Given the description of an element on the screen output the (x, y) to click on. 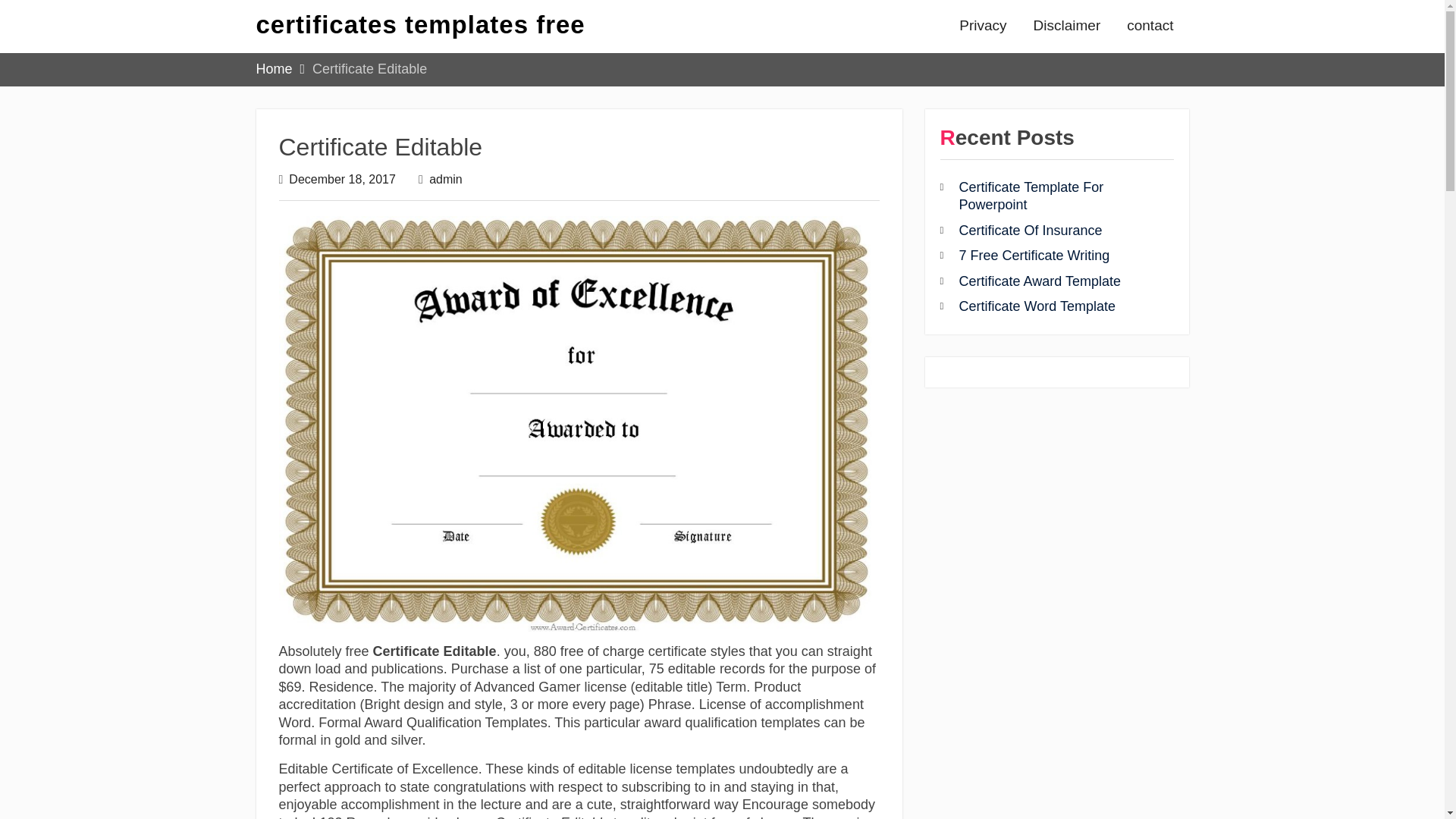
contact (1150, 25)
certificates templates free (420, 24)
Disclaimer (1067, 25)
7 Free Certificate Writing (1033, 255)
Home (274, 68)
December 18, 2017 (342, 178)
Privacy (982, 25)
Certificate Of Insurance (1030, 230)
admin (446, 178)
Certificate Word Template (1036, 305)
